Given the description of an element on the screen output the (x, y) to click on. 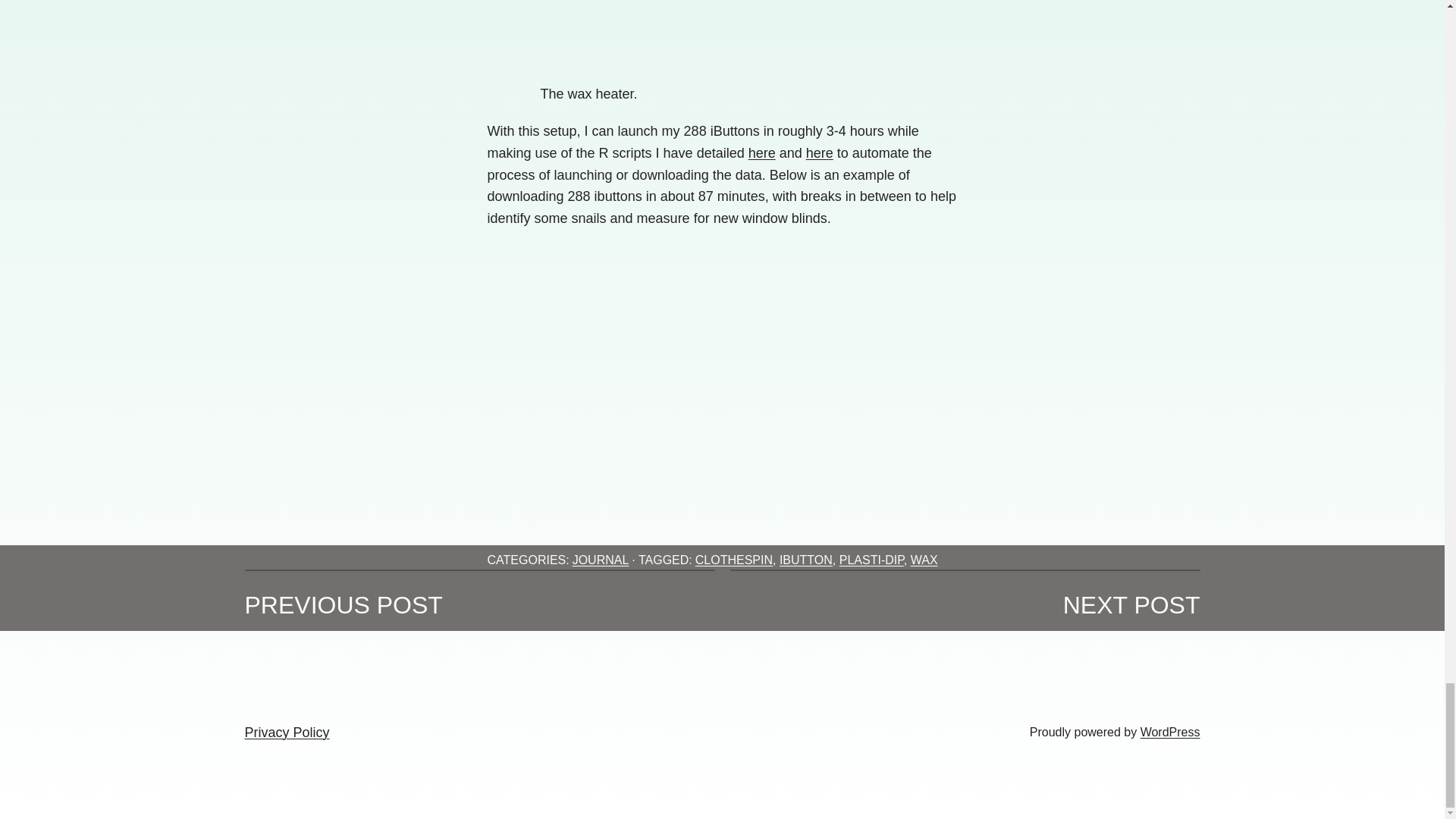
JOURNAL (600, 559)
WordPress (1169, 731)
NEXT POST (1130, 605)
IBUTTON (805, 559)
Privacy Policy (286, 732)
CLOTHESPIN (734, 559)
here (819, 152)
here (762, 152)
PREVIOUS POST (343, 605)
WAX (924, 559)
PLASTI-DIP (872, 559)
